Given the description of an element on the screen output the (x, y) to click on. 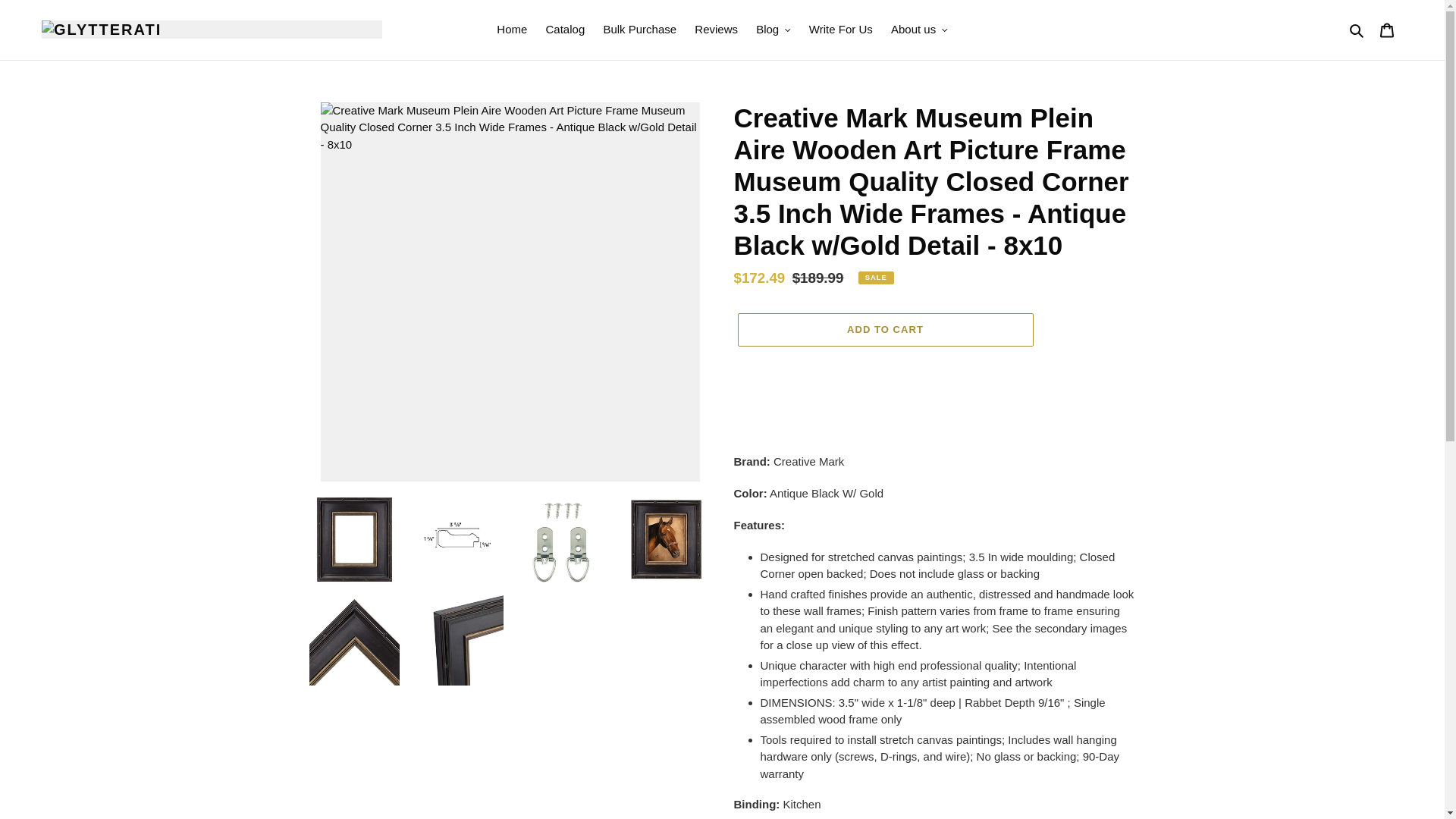
Blog (772, 29)
Reviews (716, 29)
Search (1357, 29)
About us (919, 29)
Write For Us (841, 29)
Home (511, 29)
Catalog (565, 29)
Cart (1387, 29)
Bulk Purchase (639, 29)
